Given the description of an element on the screen output the (x, y) to click on. 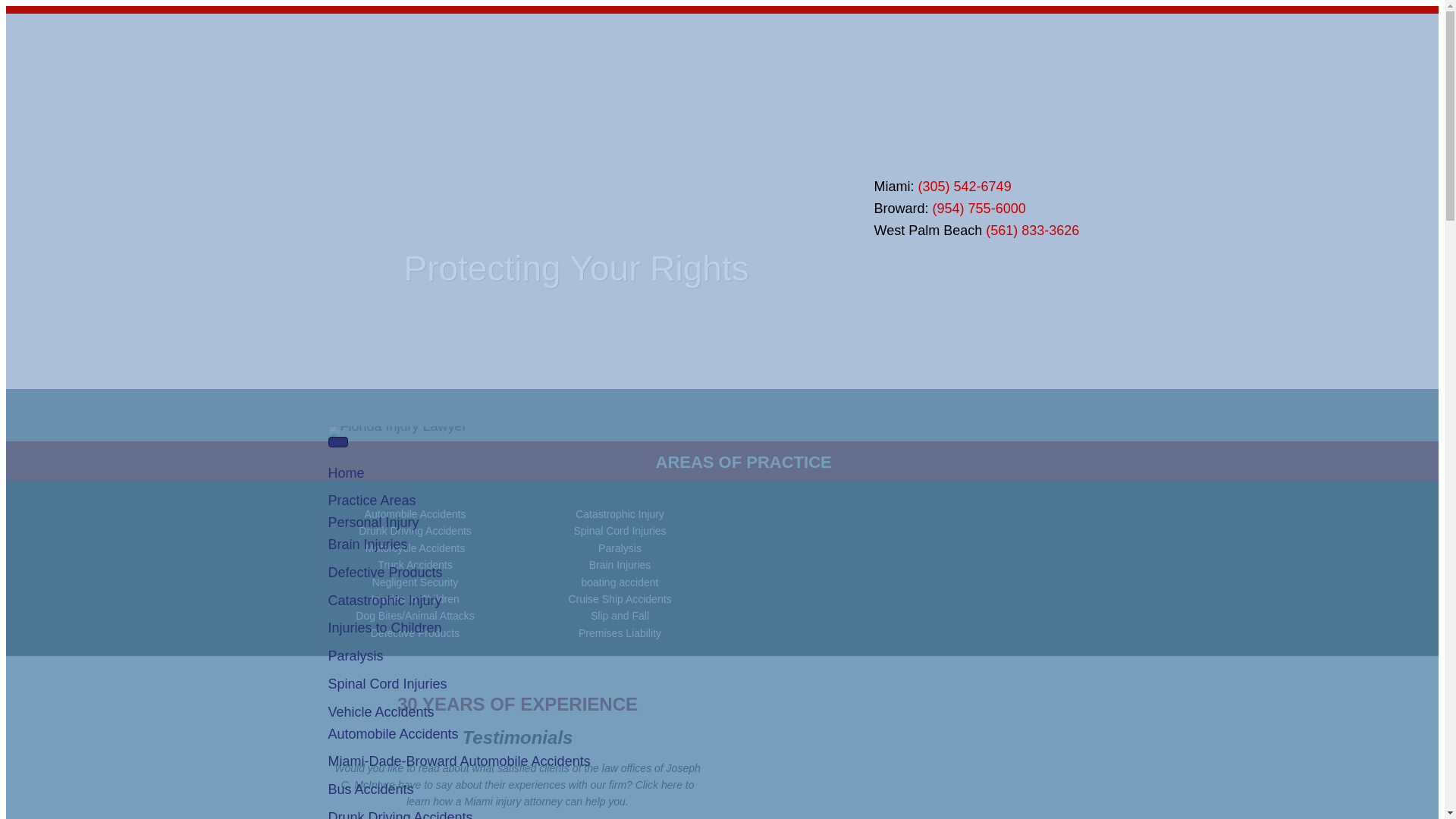
Florida Injury Lawyer (384, 208)
Florida Injury Lawyer (663, 208)
Florida Injury Lawyer (396, 431)
